Given the description of an element on the screen output the (x, y) to click on. 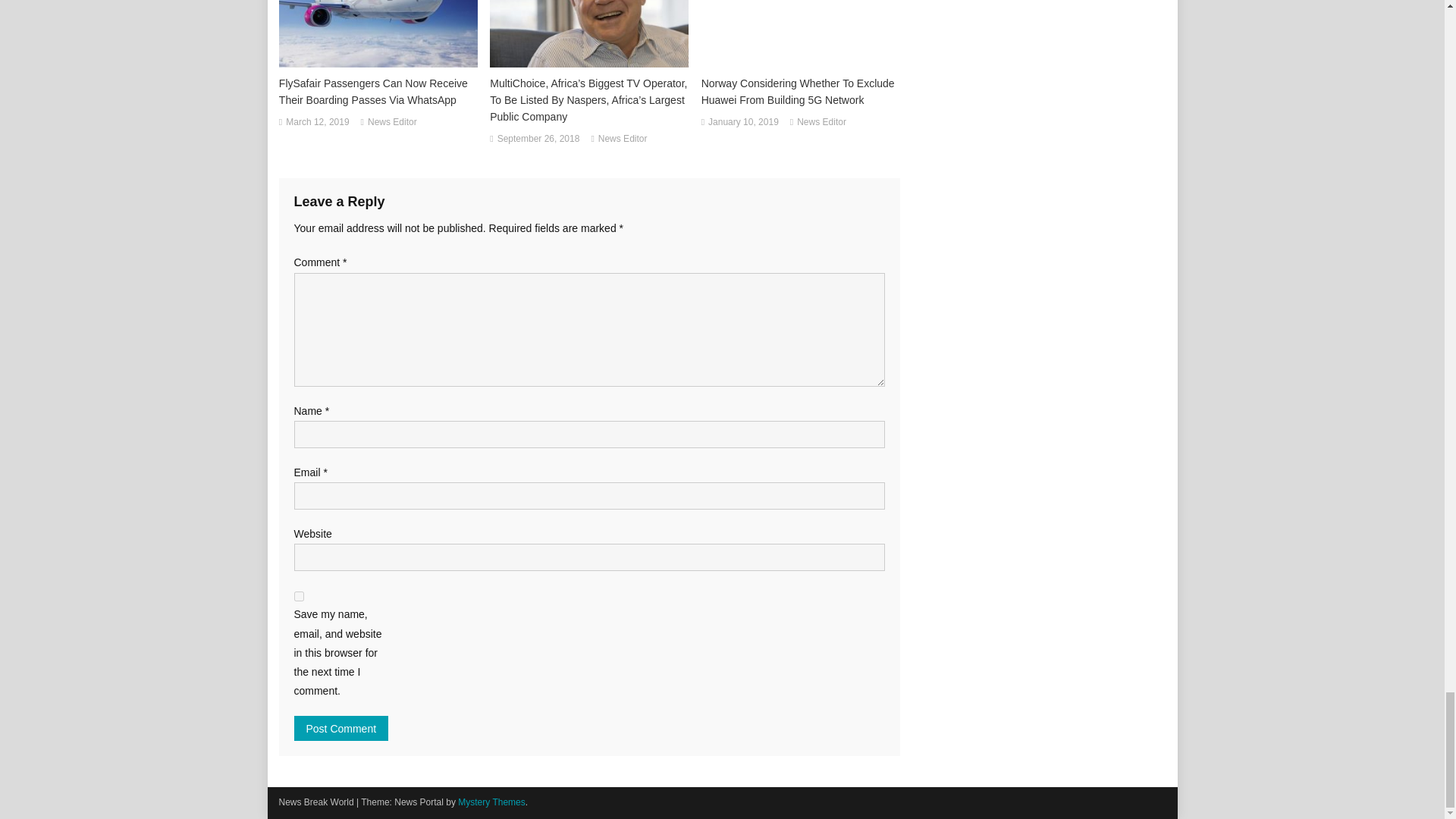
News Editor (820, 122)
Post Comment (341, 728)
March 12, 2019 (317, 122)
News Editor (392, 122)
September 26, 2018 (538, 139)
yes (299, 596)
January 10, 2019 (742, 122)
Mystery Themes (491, 801)
